Given the description of an element on the screen output the (x, y) to click on. 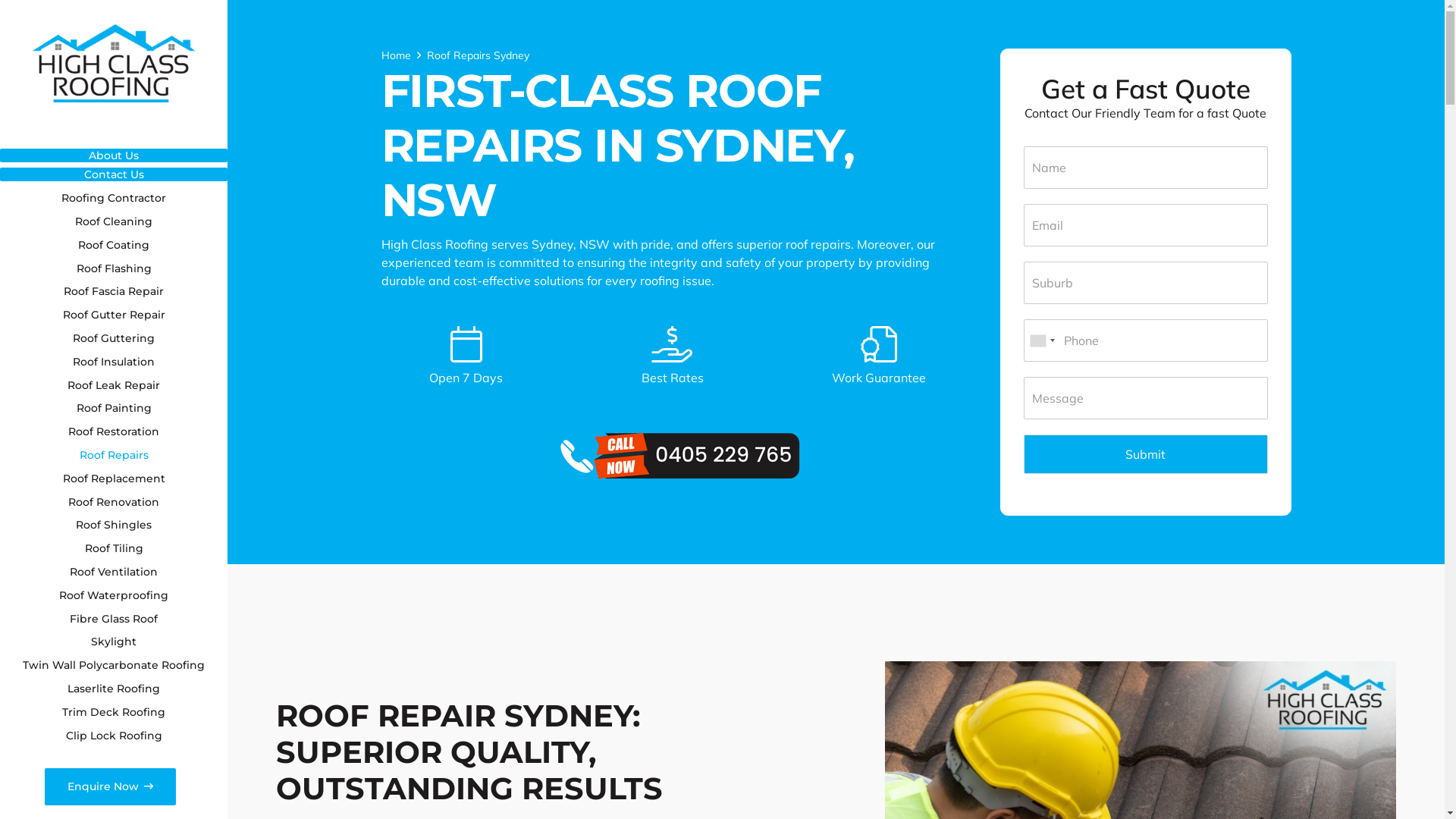
Roof Fascia Repair Element type: text (113, 291)
Roof Leak Repair Element type: text (113, 385)
Roof Repairs Element type: text (113, 455)
Roof Waterproofing Element type: text (113, 595)
Twin Wall Polycarbonate Roofing Element type: text (113, 665)
About Us Element type: text (113, 155)
Skylight Element type: text (113, 641)
Roof Painting Element type: text (113, 408)
Fibre Glass Roof Element type: text (113, 618)
Roof Flashing Element type: text (113, 268)
Trim Deck Roofing Element type: text (113, 712)
Roof Restoration Element type: text (113, 431)
Contact Us Element type: text (113, 174)
Roof Insulation Element type: text (113, 361)
Roof Renovation Element type: text (113, 502)
Roof Coating Element type: text (113, 245)
Roof Repairs Sydney Element type: text (477, 55)
Enquire Now Element type: text (109, 787)
Roofing Contractor Element type: text (113, 198)
Roof Tiling Element type: text (113, 548)
Clip Lock Roofing Element type: text (113, 735)
Roof Guttering Element type: text (113, 338)
Roof Replacement Element type: text (113, 478)
Laserlite Roofing Element type: text (113, 688)
Home Element type: text (395, 55)
Roof Cleaning Element type: text (113, 221)
Roof Shingles Element type: text (113, 524)
Roof Gutter Repair Element type: text (113, 314)
Roof Ventilation Element type: text (113, 571)
Submit Element type: text (1145, 453)
